Given the description of an element on the screen output the (x, y) to click on. 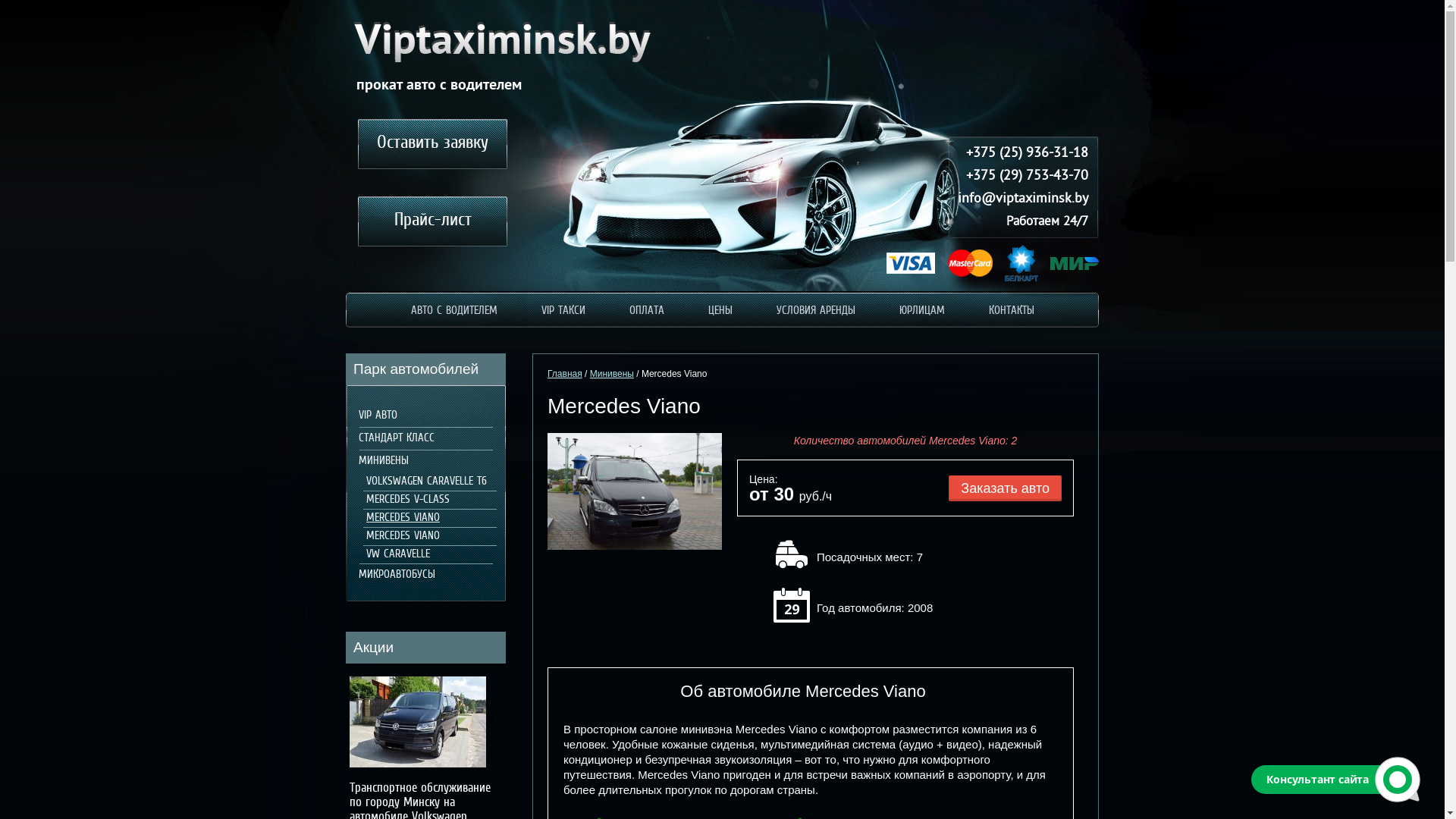
VW CARAVELLE Element type: text (395, 554)
info@viptaximinsk.by Element type: text (1018, 199)
MERCEDES VIANO Element type: text (400, 536)
VOLKSWAGEN CARAVELLE T6 Element type: text (423, 481)
+375 (29) 753-43-70 Element type: text (1018, 176)
+375 (25) 936-31-18 Element type: text (1018, 153)
MERCEDES V-CLASS Element type: text (405, 499)
